Given the description of an element on the screen output the (x, y) to click on. 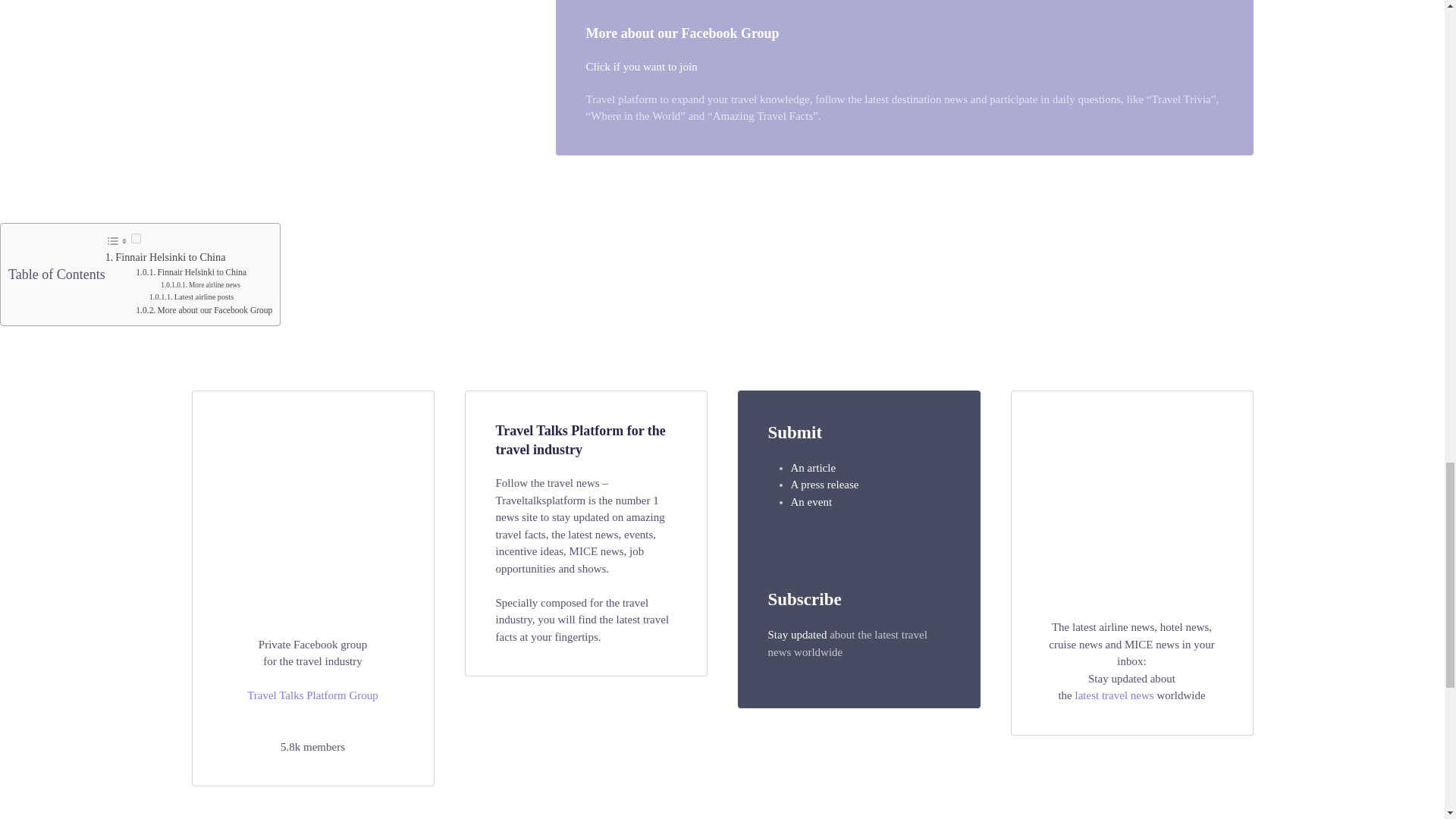
Latest airline posts (203, 296)
More about our Facebook Group (215, 309)
Finnair Helsinki to China (170, 256)
Finnair Helsinki to China (202, 271)
More airline news (214, 285)
on (136, 238)
